Given the description of an element on the screen output the (x, y) to click on. 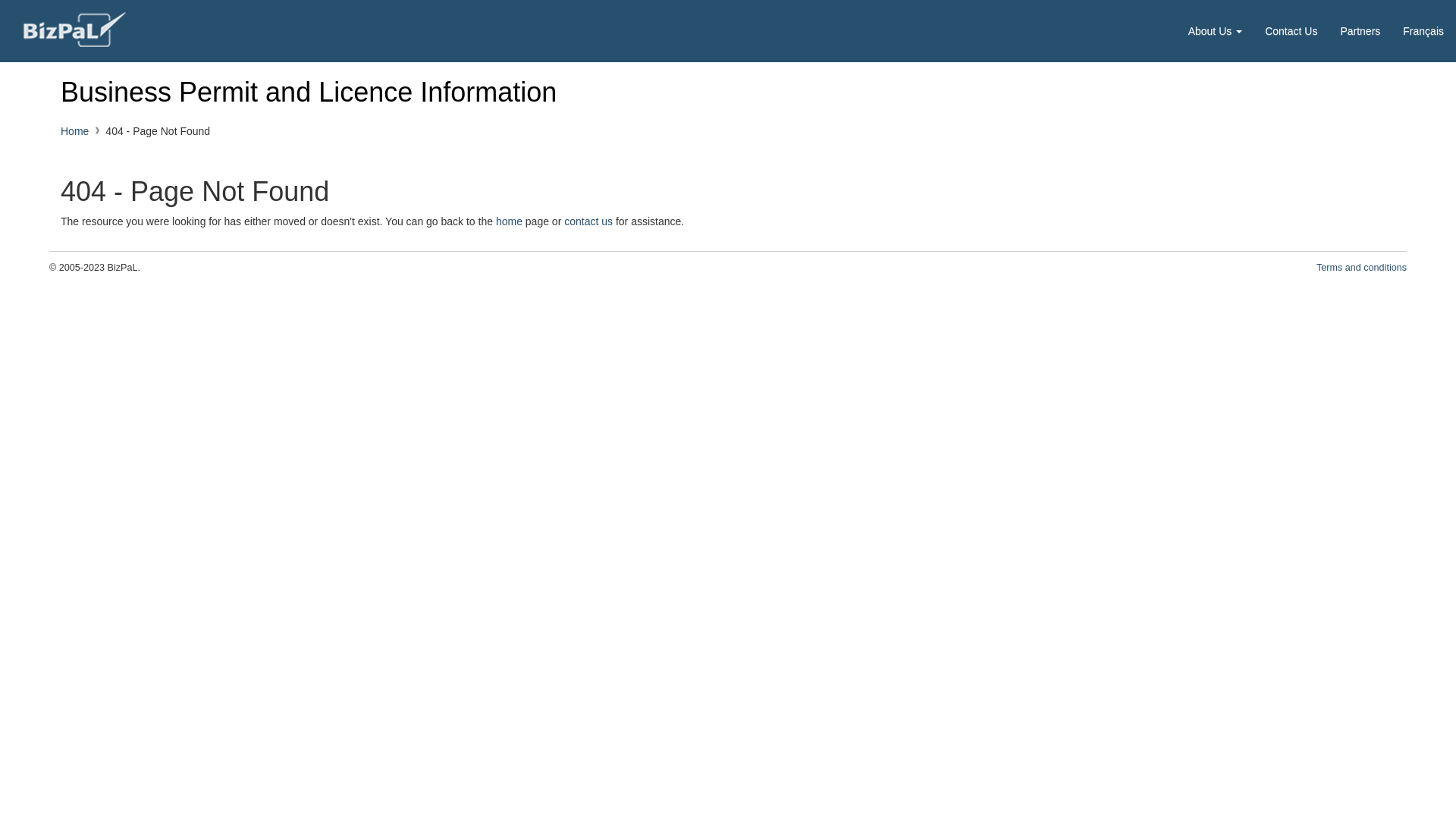
Partners Element type: text (1359, 30)
Terms and conditions Element type: text (1361, 267)
home Element type: text (508, 221)
About Us Element type: text (1214, 30)
Contact Us Element type: text (1290, 30)
BizPaL Element type: hover (74, 29)
contact us Element type: text (588, 221)
Home Element type: text (74, 131)
